Given the description of an element on the screen output the (x, y) to click on. 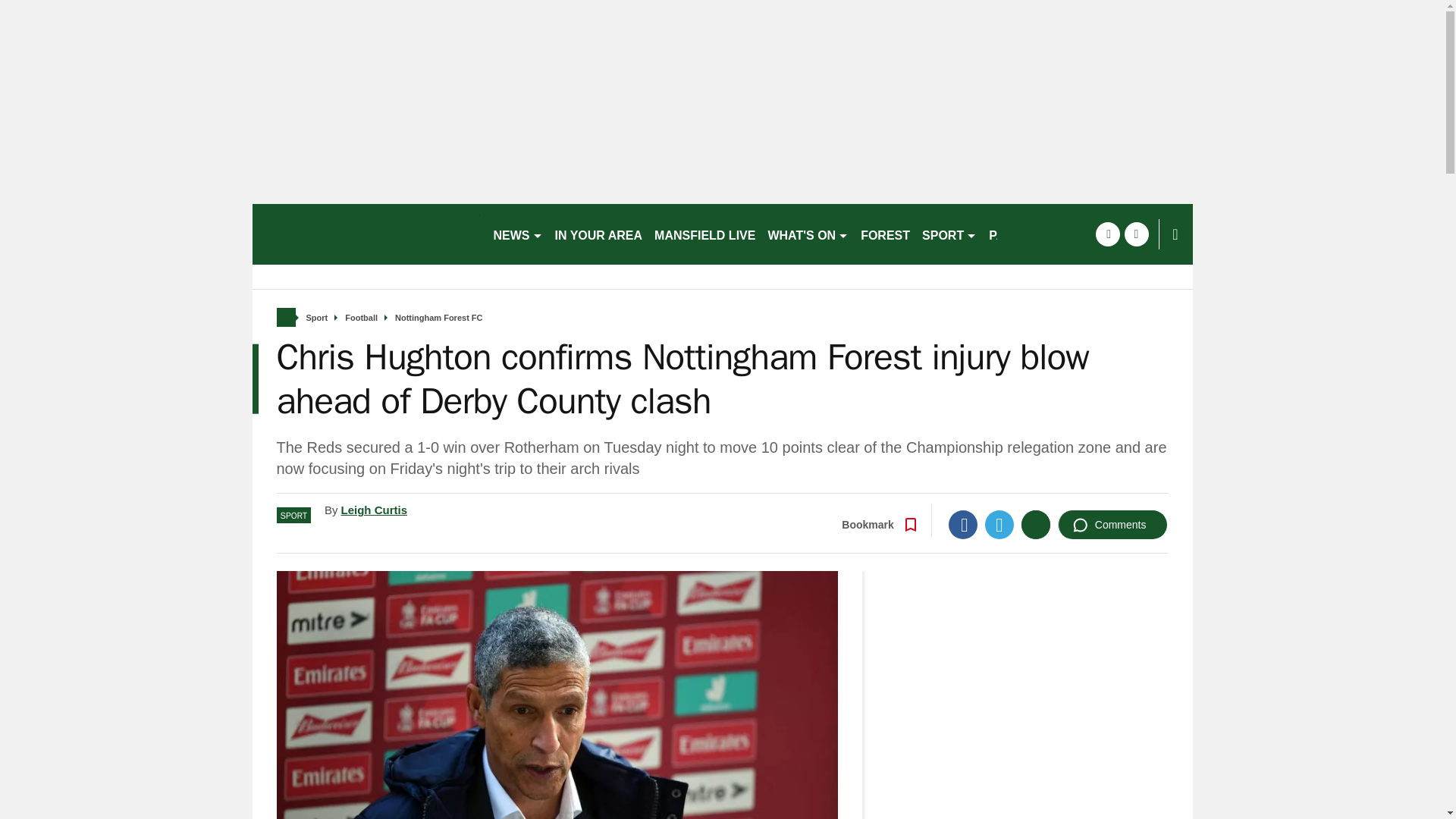
FOREST (884, 233)
facebook (1106, 233)
Comments (1112, 524)
MANSFIELD LIVE (704, 233)
NEWS (517, 233)
Twitter (999, 524)
SPORT (948, 233)
Facebook (962, 524)
twitter (1136, 233)
nottinghampost (365, 233)
IN YOUR AREA (598, 233)
WHAT'S ON (807, 233)
PARTNER STORIES (1045, 233)
